Given the description of an element on the screen output the (x, y) to click on. 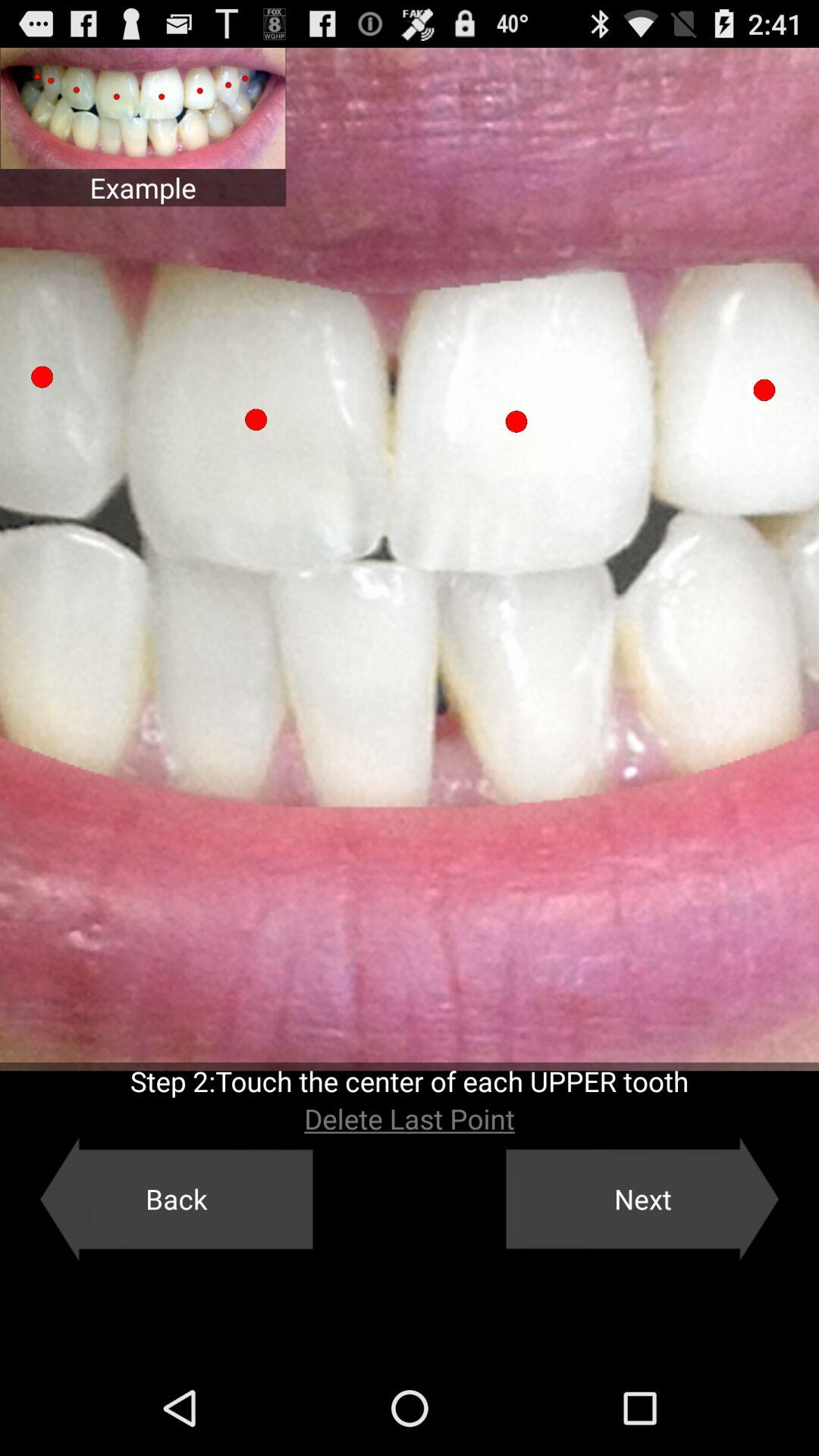
open the app below the step 2 touch icon (409, 1118)
